Given the description of an element on the screen output the (x, y) to click on. 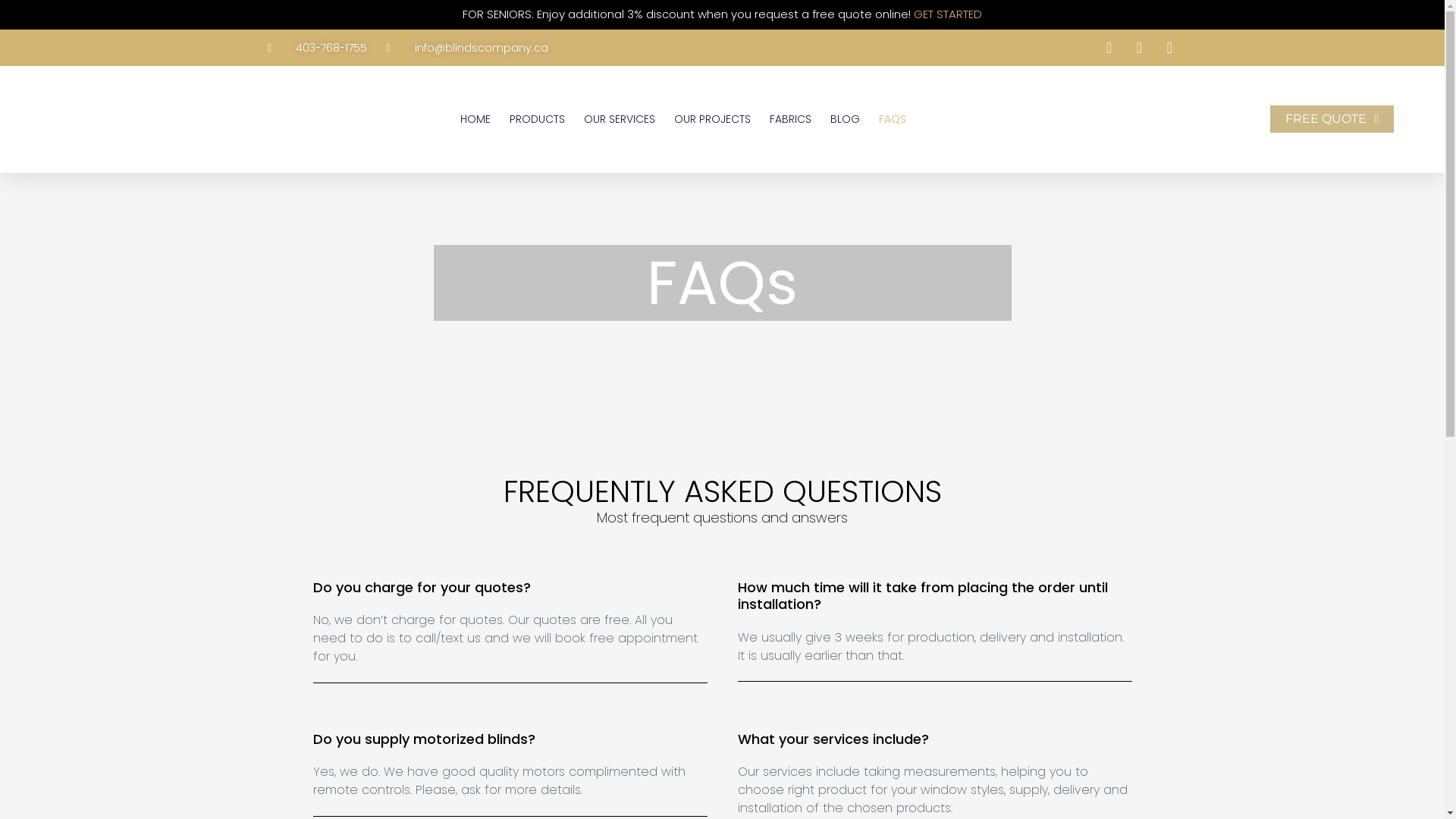
FABRICS Element type: text (790, 118)
BLOG Element type: text (844, 118)
HOME Element type: text (475, 118)
PRODUCTS Element type: text (536, 118)
GET STARTED Element type: text (947, 13)
FREE QUOTE Element type: text (1331, 118)
FAQS Element type: text (892, 118)
info@blindscompany.ca Element type: text (466, 47)
OUR PROJECTS Element type: text (712, 118)
OUR SERVICES Element type: text (619, 118)
